Given the description of an element on the screen output the (x, y) to click on. 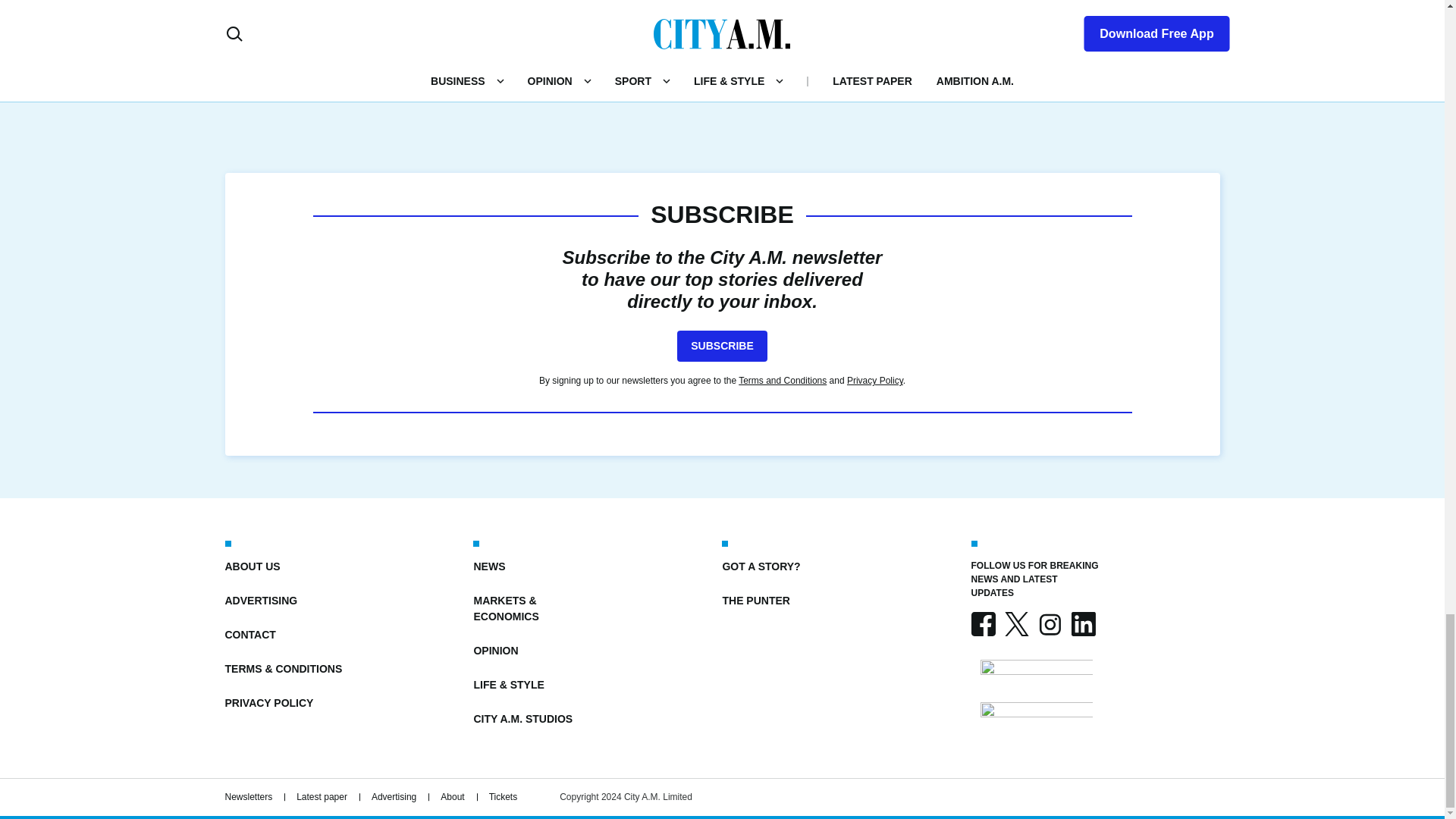
INSTAGRAM (1048, 623)
LINKEDIN (1082, 623)
X (1015, 623)
FACEBOOK (982, 623)
